Given the description of an element on the screen output the (x, y) to click on. 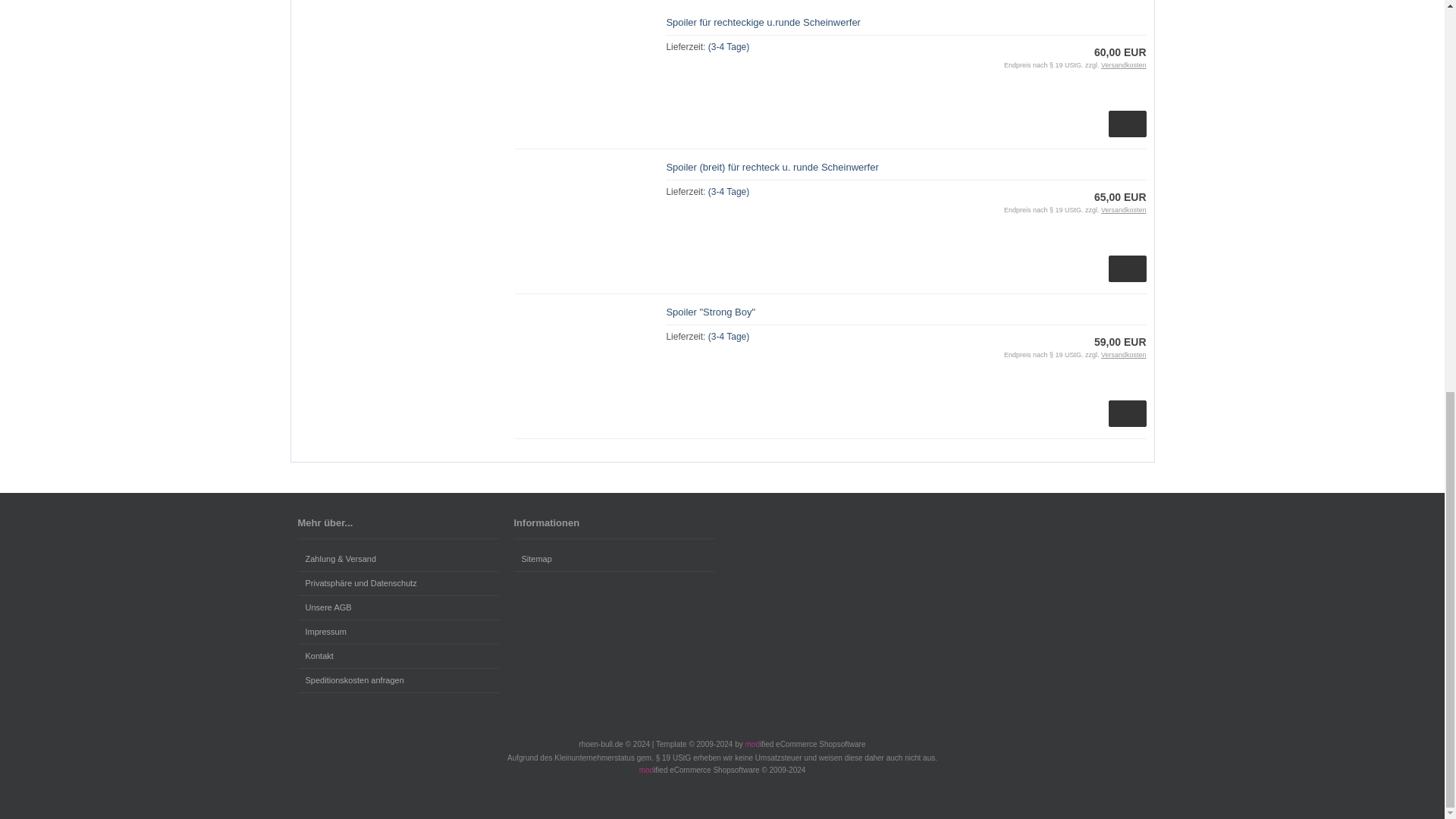
 Details (1127, 268)
 Details (1127, 123)
Information (728, 46)
Information (1123, 209)
Information (728, 191)
Versandkosten (1123, 209)
Versandkosten (1123, 354)
Versandkosten (1123, 64)
Spoiler "Strong Boy" (710, 311)
Information (1123, 64)
